Given the description of an element on the screen output the (x, y) to click on. 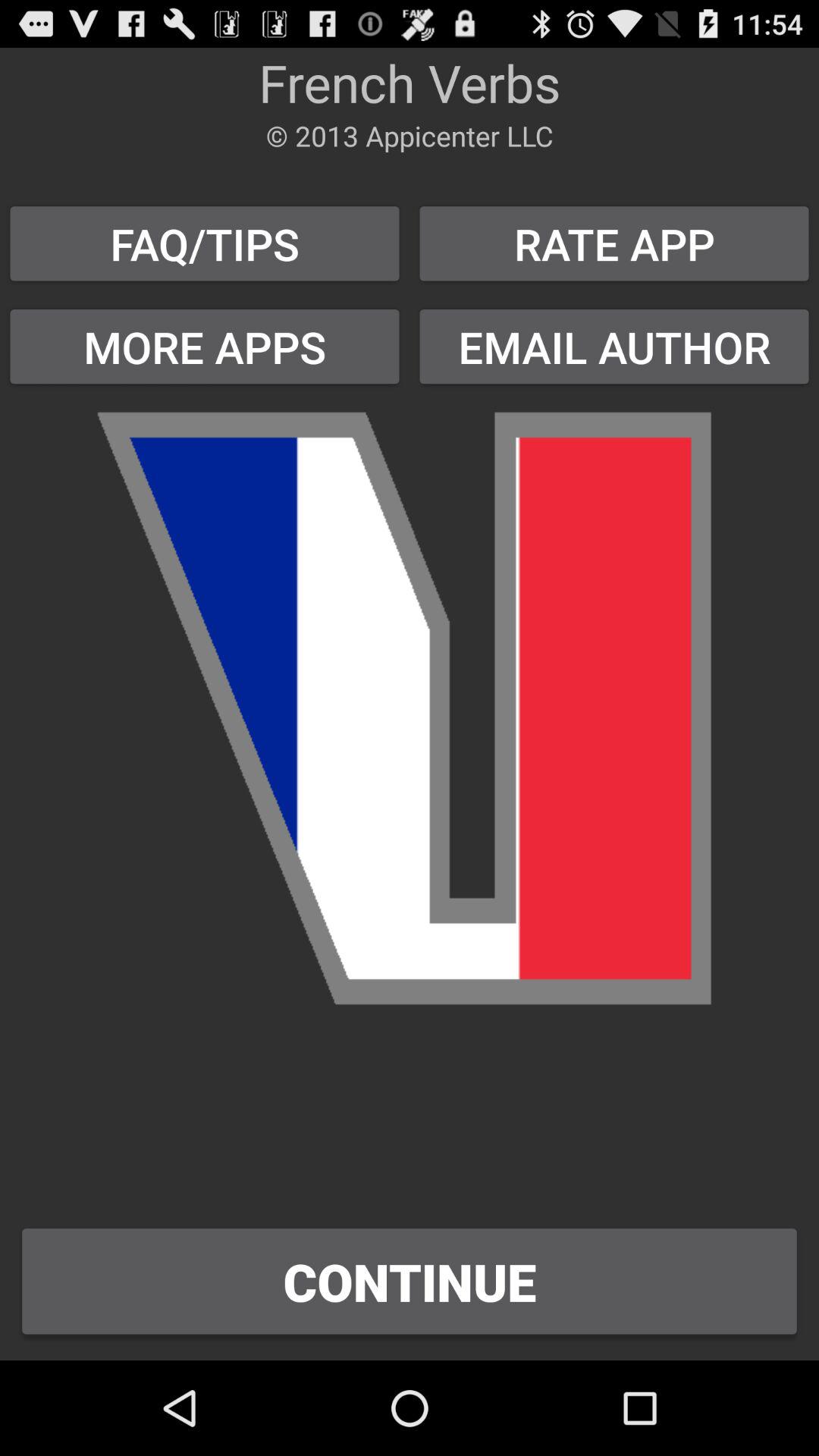
press button to the left of the rate app item (204, 243)
